Given the description of an element on the screen output the (x, y) to click on. 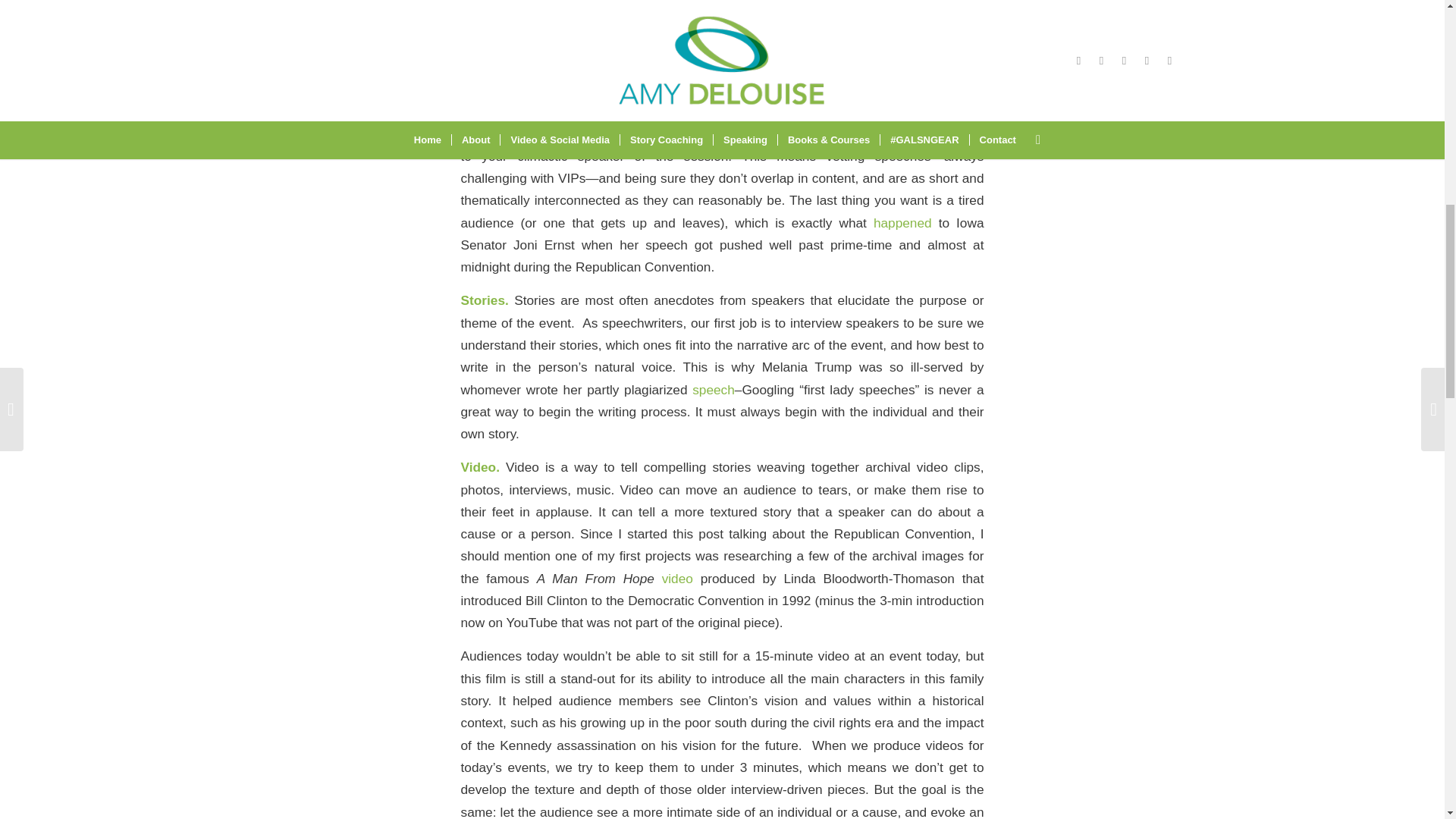
speech (714, 389)
video (677, 578)
happened (902, 222)
